Given the description of an element on the screen output the (x, y) to click on. 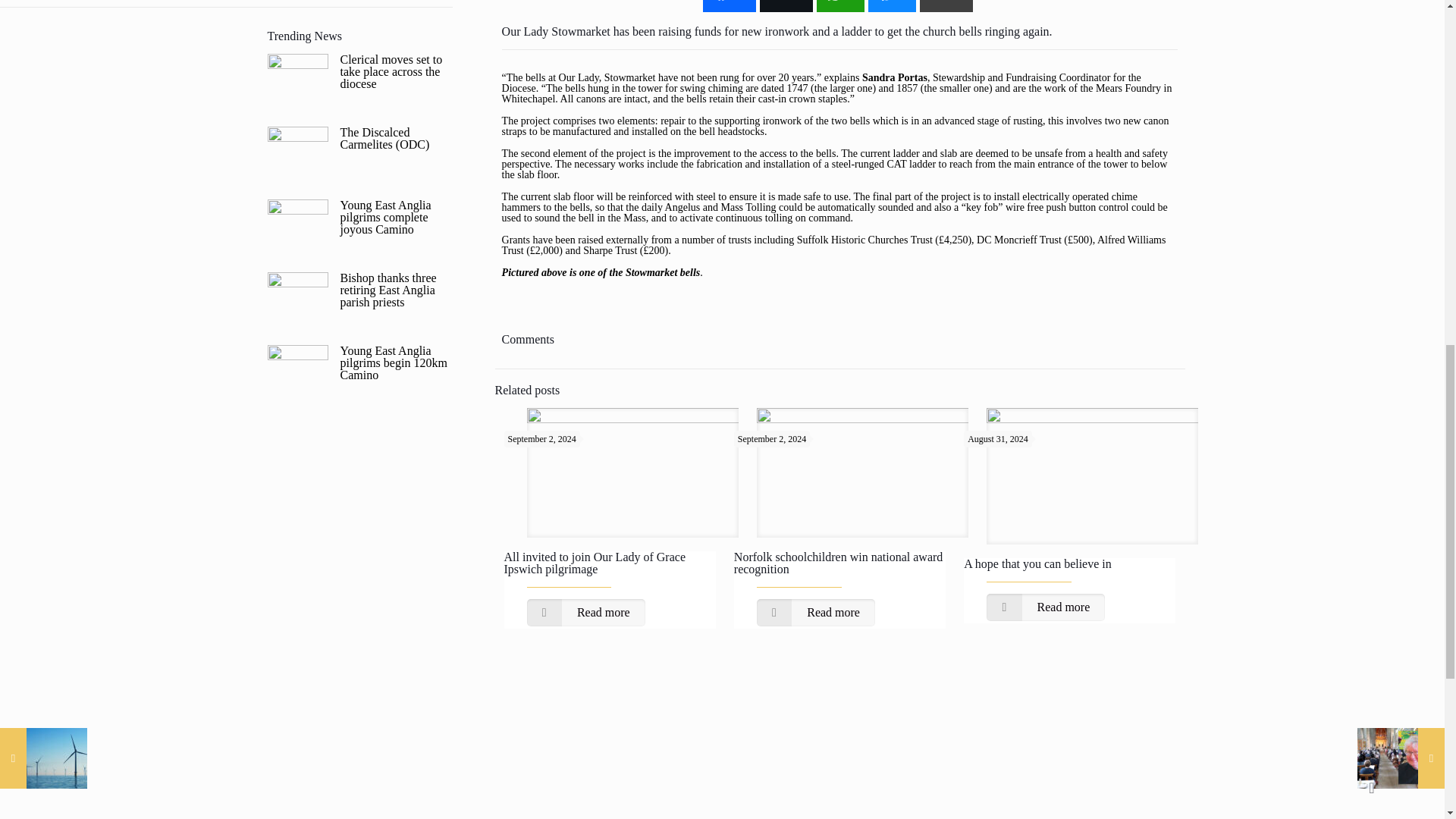
Share on Email (946, 6)
Share on Facebook Messenger (891, 6)
Share on WhatsApp (840, 6)
Share on Facebook (729, 6)
Share on Twitter (786, 6)
